Given the description of an element on the screen output the (x, y) to click on. 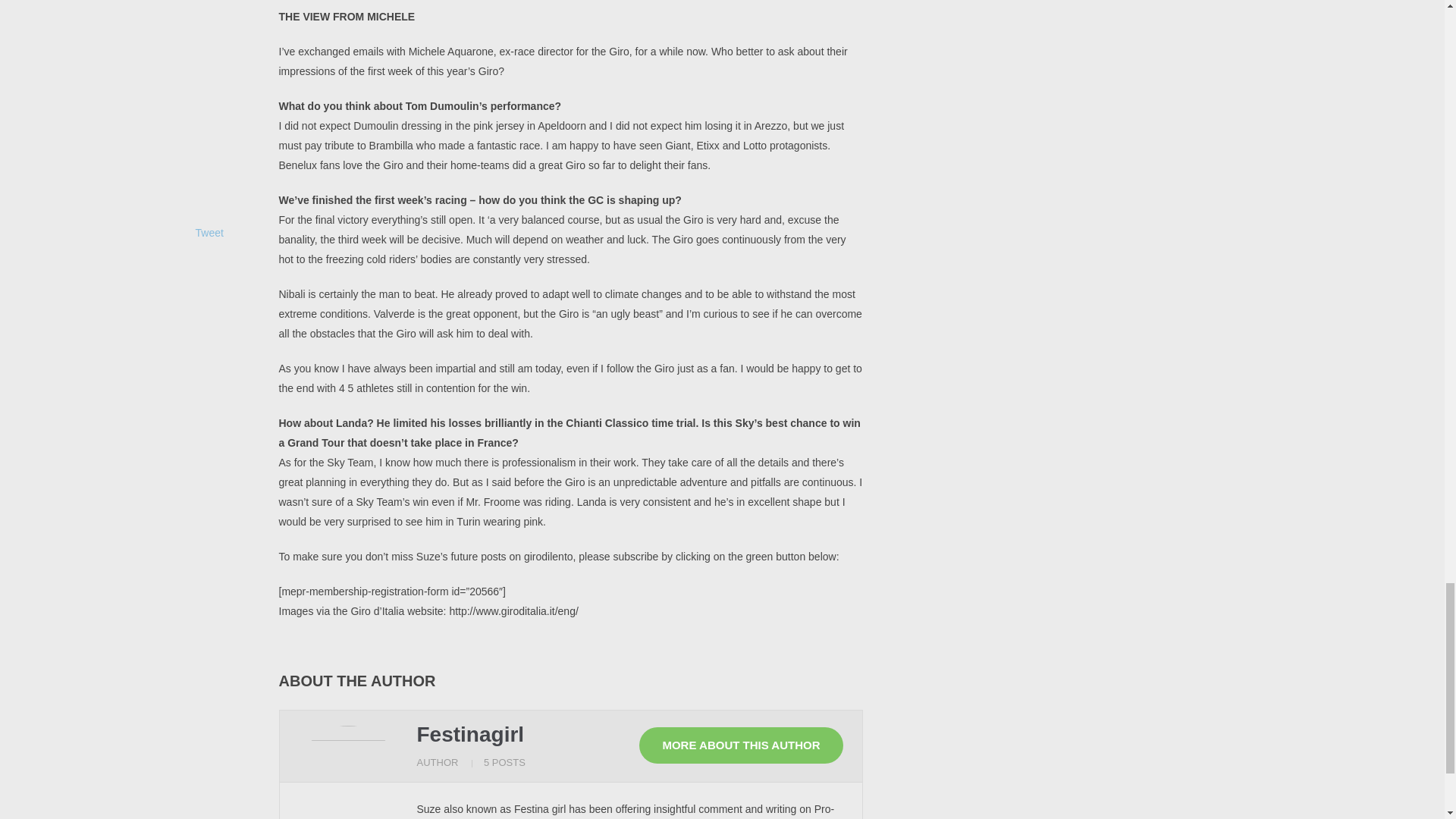
MORE ABOUT THIS AUTHOR (741, 745)
5 POSTS (504, 762)
